Given the description of an element on the screen output the (x, y) to click on. 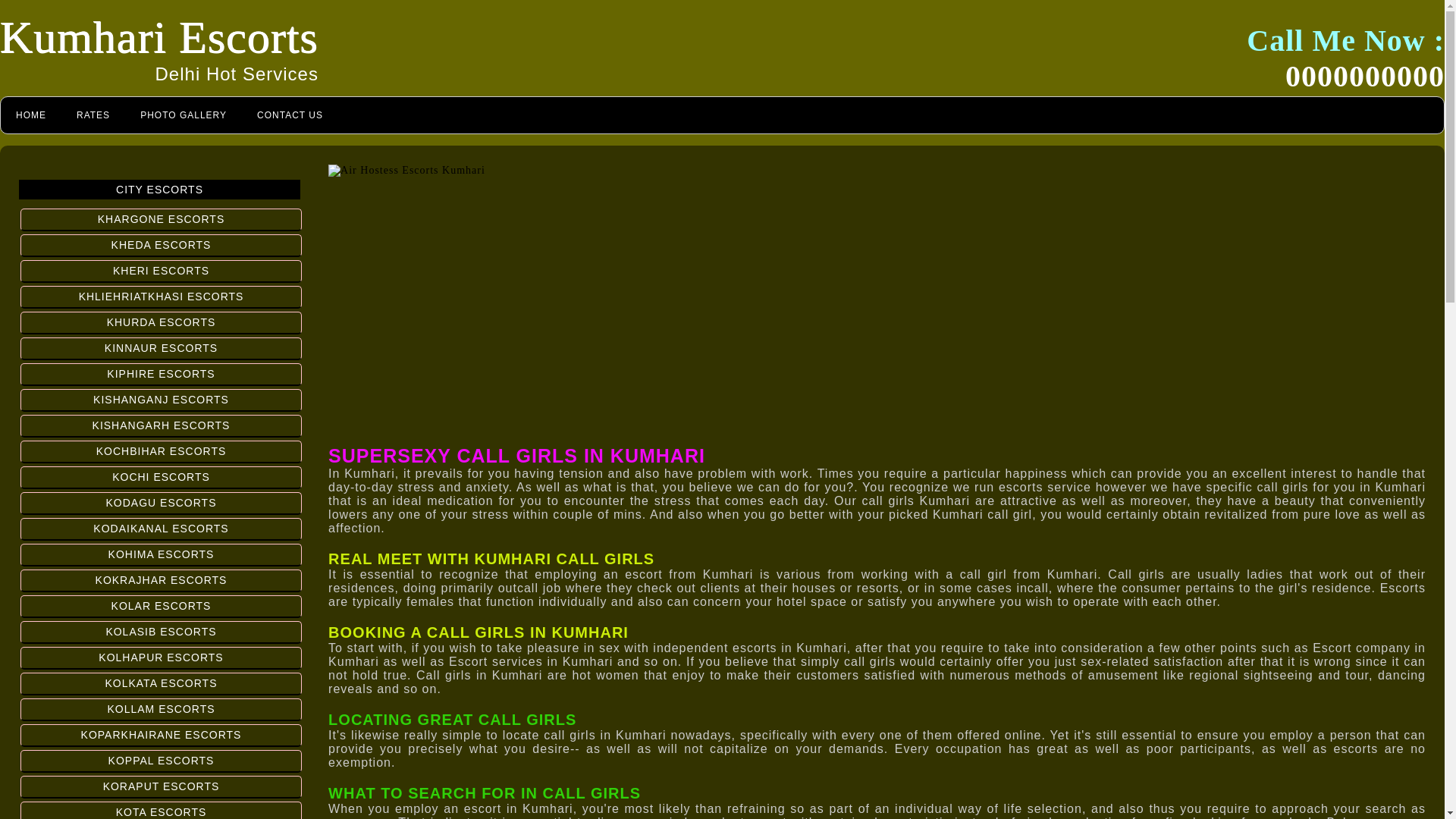
HOME (31, 115)
Delhi Hot Services (236, 73)
PHOTO GALLERY (183, 115)
RATES (93, 115)
CONTACT US (289, 115)
